Given the description of an element on the screen output the (x, y) to click on. 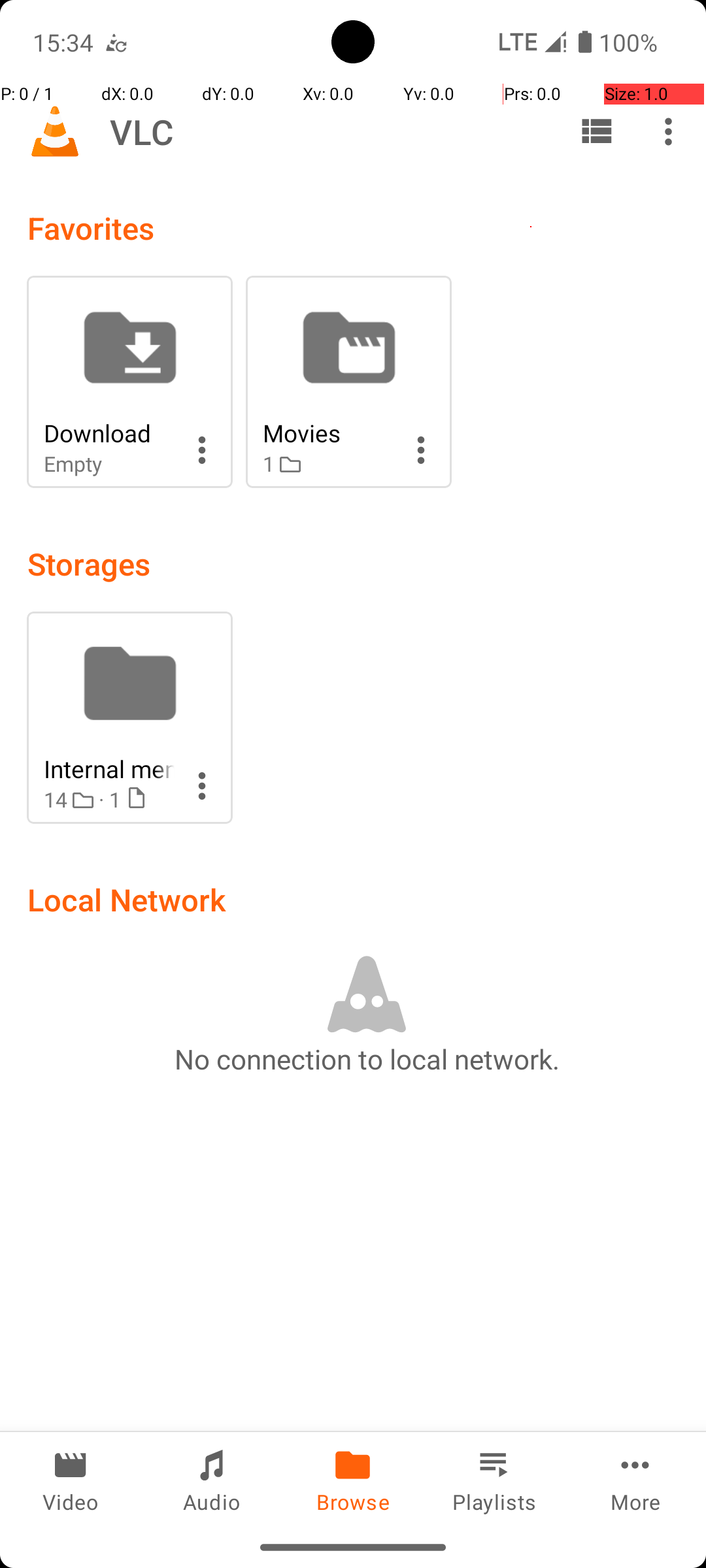
Favorite: Download, Empty Element type: androidx.cardview.widget.CardView (129, 381)
Folder: Internal memory, 14 subfolders, 1 media file Element type: androidx.cardview.widget.CardView (129, 717)
14 §*§ · 1 *§* Element type: android.widget.TextView (108, 799)
